Given the description of an element on the screen output the (x, y) to click on. 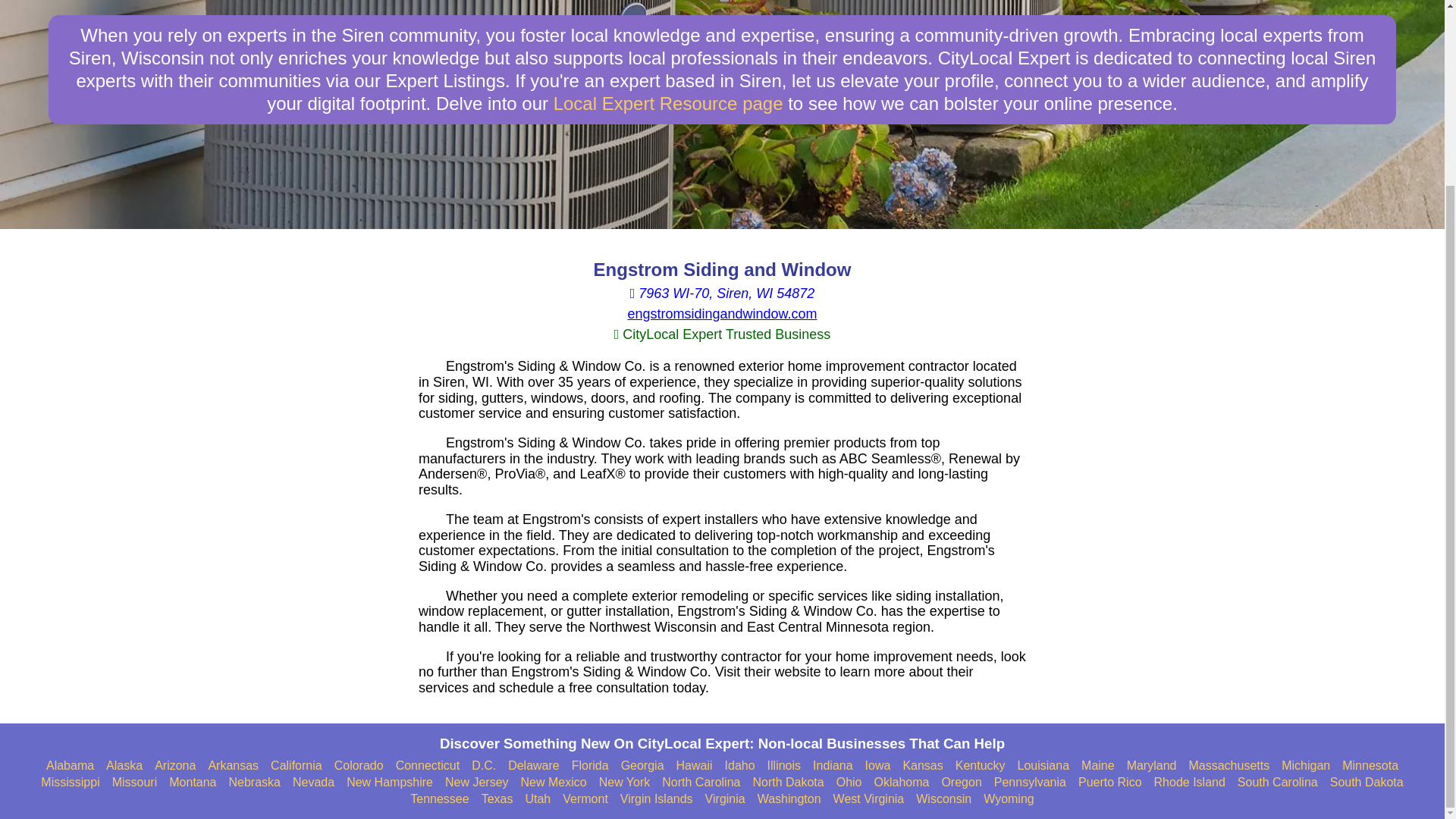
Idaho (740, 766)
Maine (1098, 766)
New Hampshire (389, 782)
Minnesota (1369, 766)
Find Businesses in Hawaii (695, 766)
Iowa (877, 766)
Find Businesses in California (295, 766)
Connecticut (428, 766)
Delaware (533, 766)
